Given the description of an element on the screen output the (x, y) to click on. 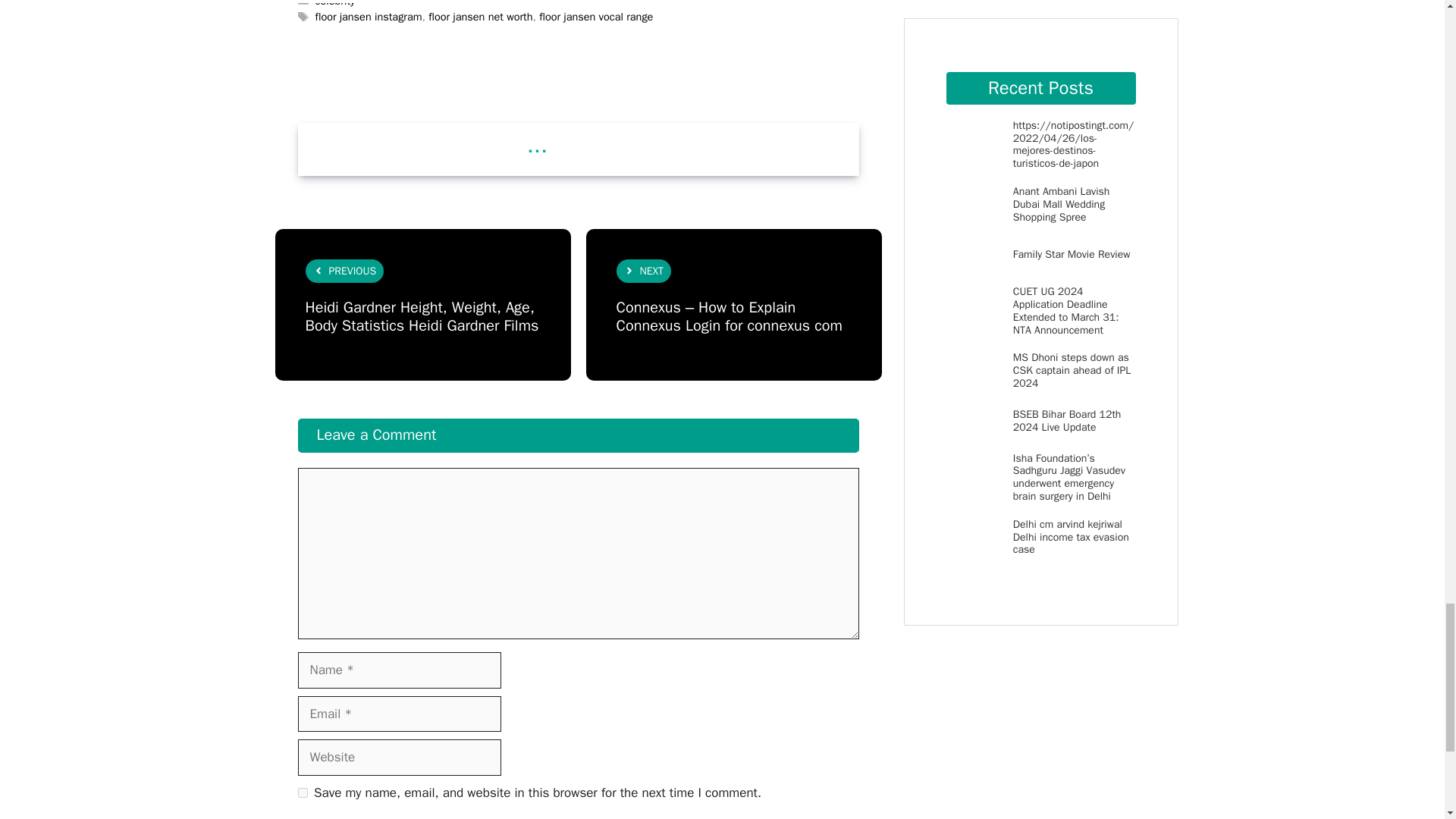
yes (302, 792)
floor jansen vocal range (595, 16)
floor jansen net worth (480, 16)
floor jansen instagram (368, 16)
celebrity (335, 3)
